Given the description of an element on the screen output the (x, y) to click on. 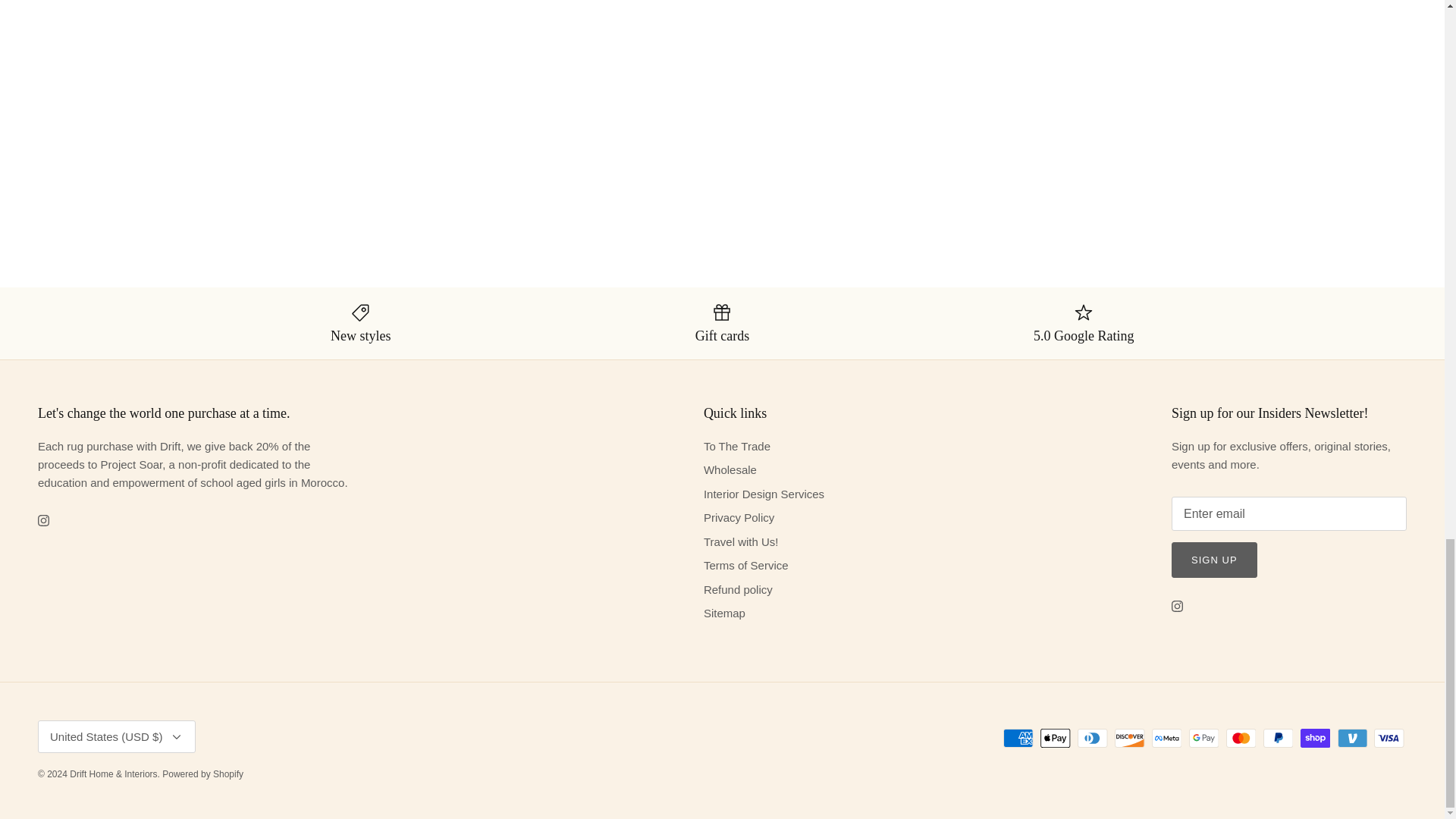
Shop Pay (1315, 737)
Instagram (1177, 605)
Instagram (43, 520)
Discover (1129, 737)
Apple Pay (1055, 737)
Mastercard (1240, 737)
American Express (1018, 737)
Meta Pay (1166, 737)
Diners Club (1092, 737)
Google Pay (1203, 737)
